Given the description of an element on the screen output the (x, y) to click on. 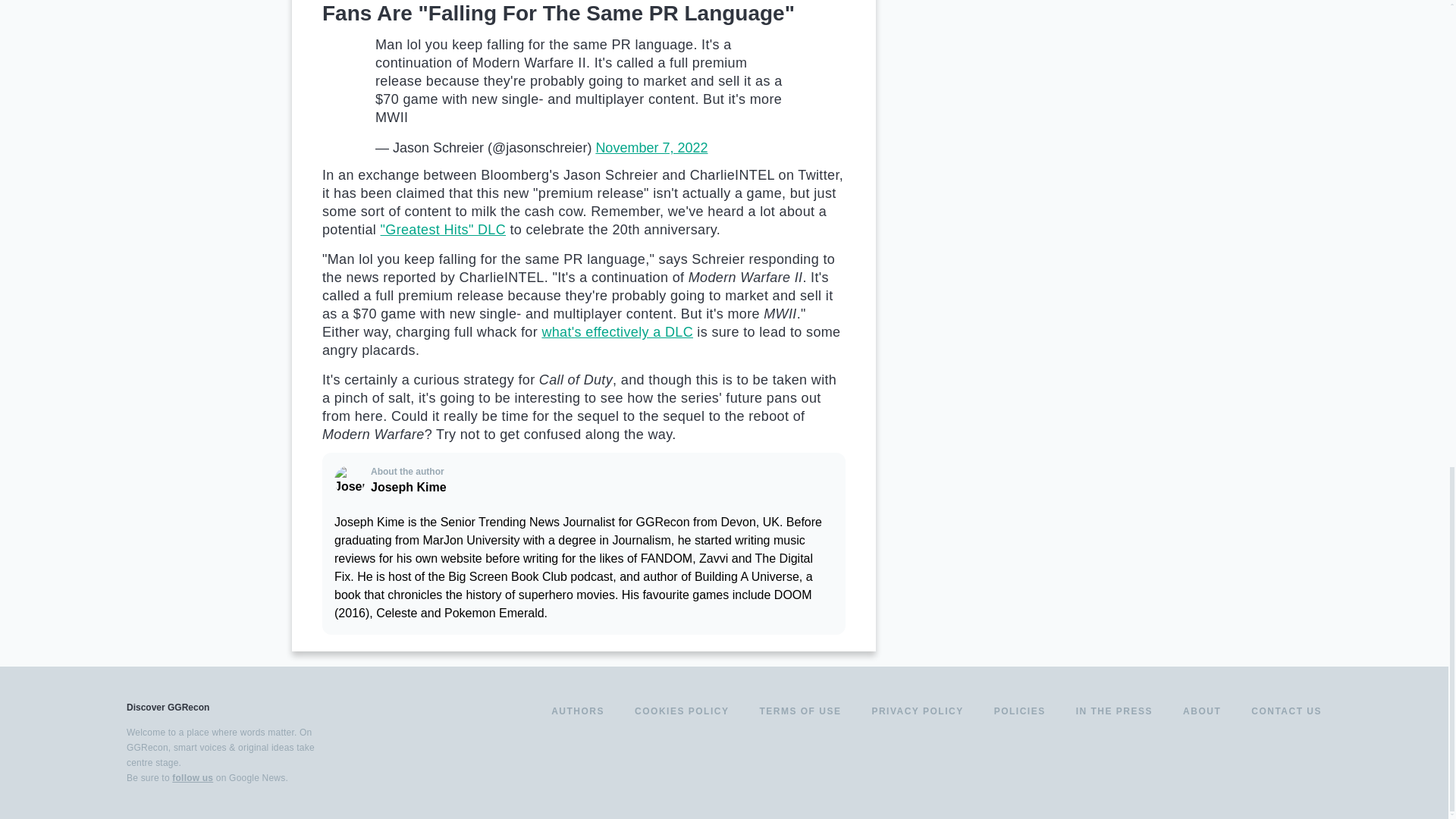
twitterLink (1230, 767)
youtubeLink (1285, 767)
facebookLink (1202, 767)
instagramLink (1257, 767)
Joseph Kime (349, 481)
